Given the description of an element on the screen output the (x, y) to click on. 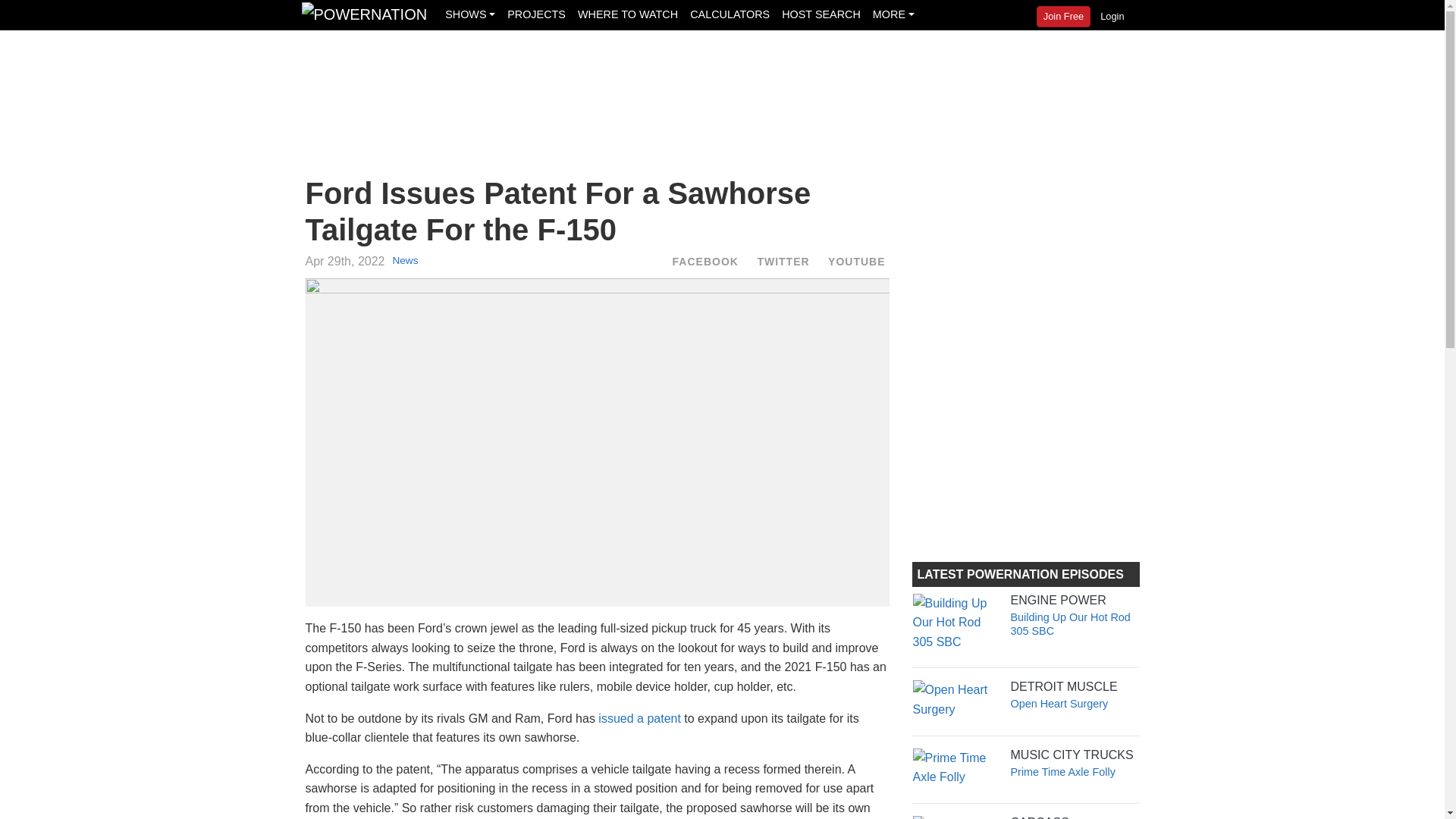
HOST SEARCH (821, 14)
ENGINE POWER (1024, 600)
SHOWS (469, 14)
FACEBOOK (705, 261)
Login (1112, 16)
CALCULATORS (730, 14)
TWITTER (782, 261)
News (404, 260)
Join Free (1063, 16)
issued a patent (639, 717)
